Given the description of an element on the screen output the (x, y) to click on. 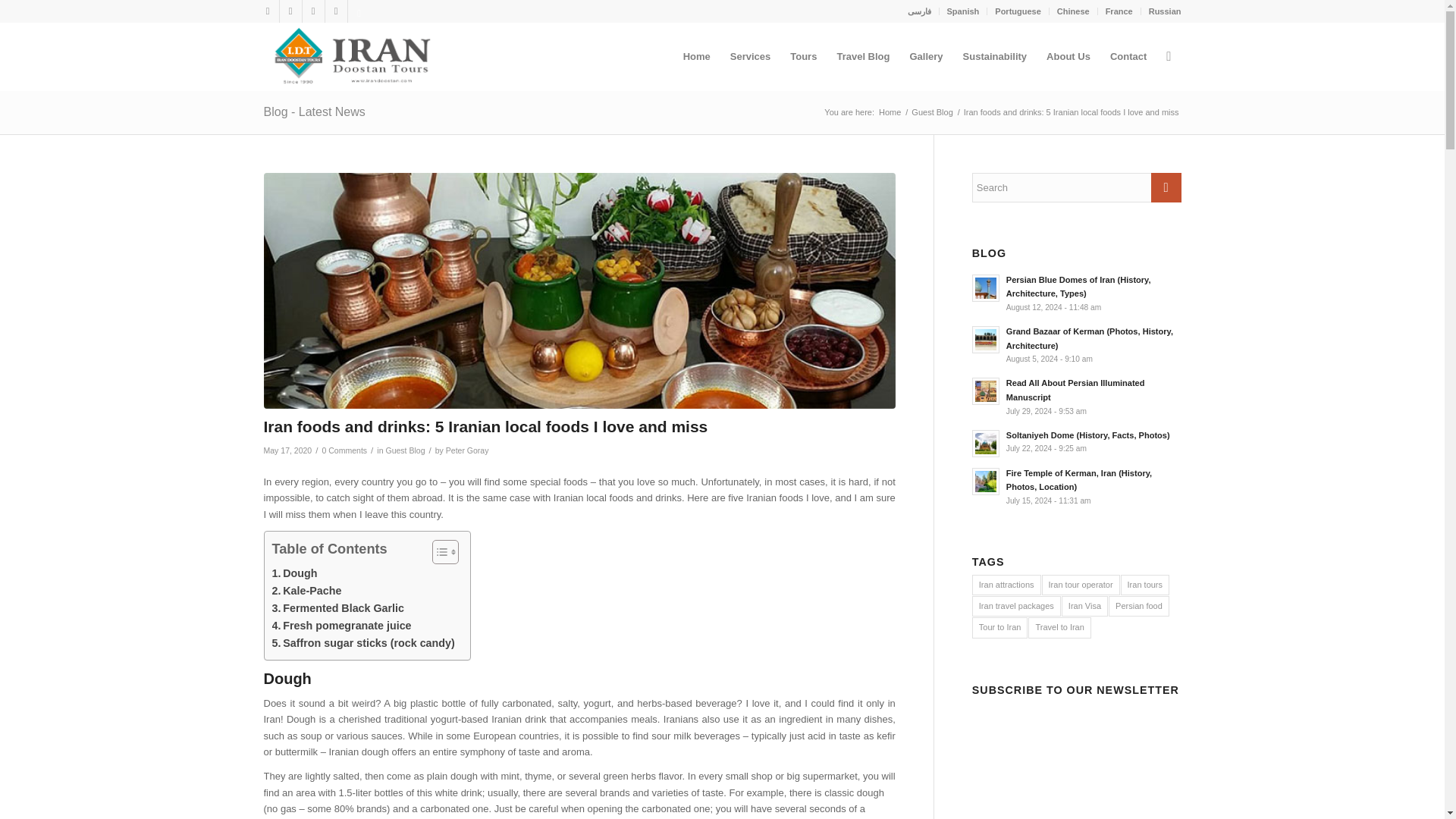
Posts by Peter Goray (467, 450)
logo idt2-09 (350, 56)
Russian (1164, 11)
Fermented Black Garlic (337, 608)
Youtube (335, 11)
Instagram (312, 11)
Chinese (1073, 11)
Facebook (267, 11)
Irandoostan (889, 112)
Xing (358, 11)
